Given the description of an element on the screen output the (x, y) to click on. 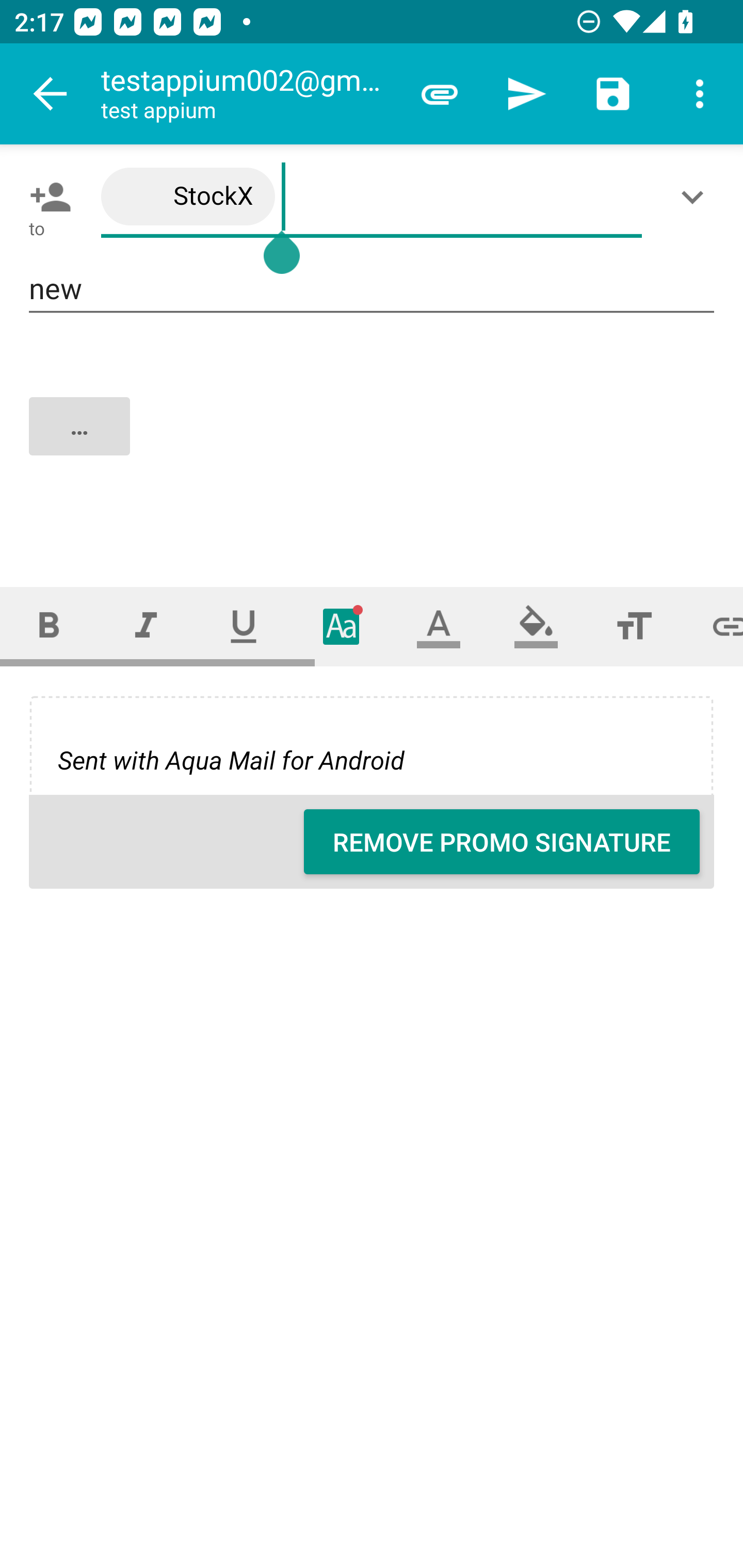
Navigate up (50, 93)
testappium002@gmail.com test appium (248, 93)
Attach (439, 93)
Send (525, 93)
Save (612, 93)
More options (699, 93)
StockX <noreply@stockx.com>,  (371, 197)
Pick contact: To (46, 196)
Show/Add CC/BCC (696, 196)
new (371, 288)

…
 (372, 442)
Bold (48, 626)
Italic (145, 626)
Underline (243, 626)
Typeface (font) (341, 626)
Text color (438, 626)
Fill color (536, 626)
Font size (633, 626)
REMOVE PROMO SIGNATURE (501, 841)
